Given the description of an element on the screen output the (x, y) to click on. 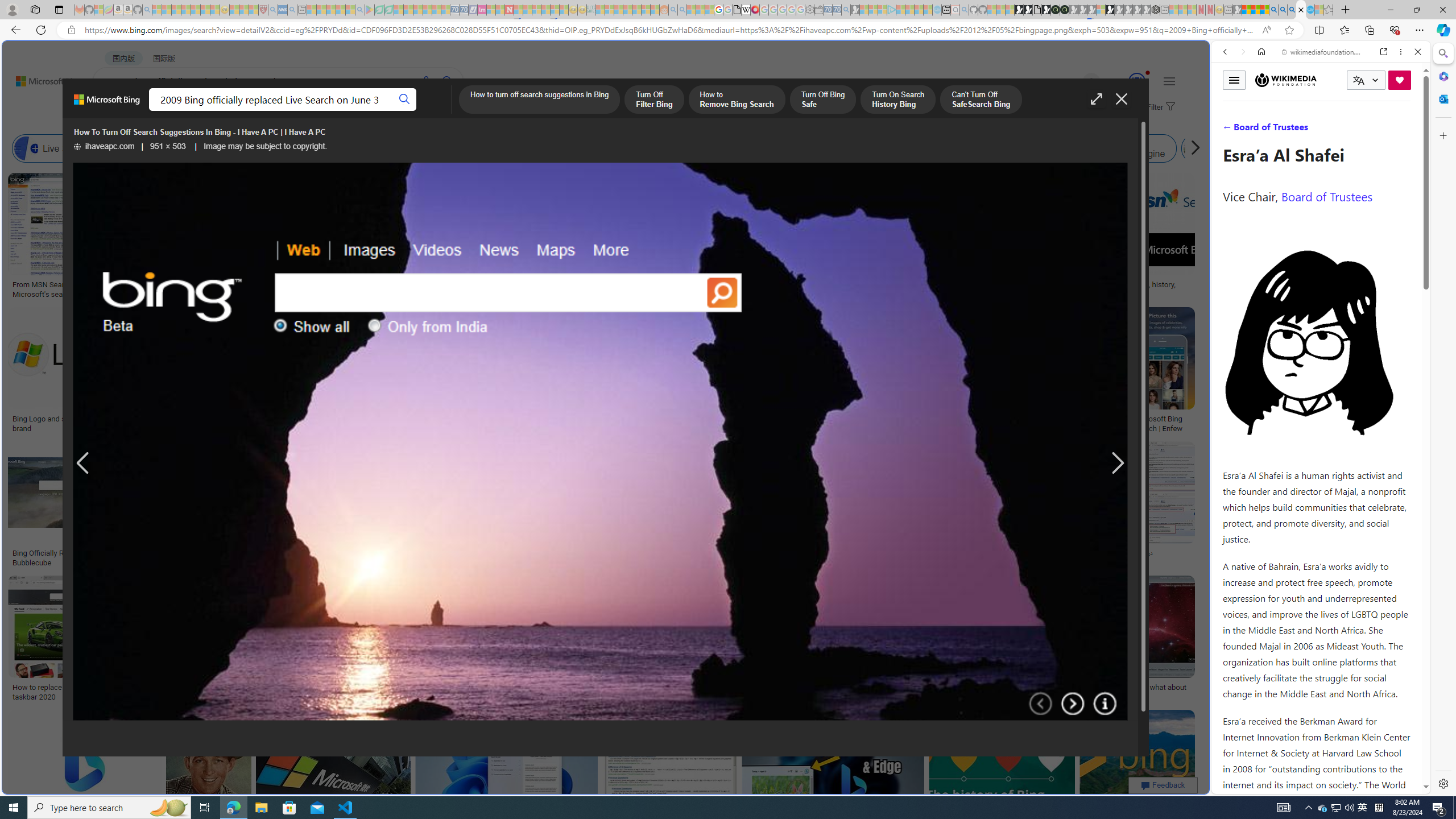
Expert Portfolios - Sleeping (627, 9)
Class: b_pri_nav_svg (240, 112)
Favorites - Sleeping (1328, 9)
Bing (2009) (RARE/FAKE) - YouTube (925, 552)
Bing Logo and symbol, meaning, history, PNG, brand (97, 423)
